Given the description of an element on the screen output the (x, y) to click on. 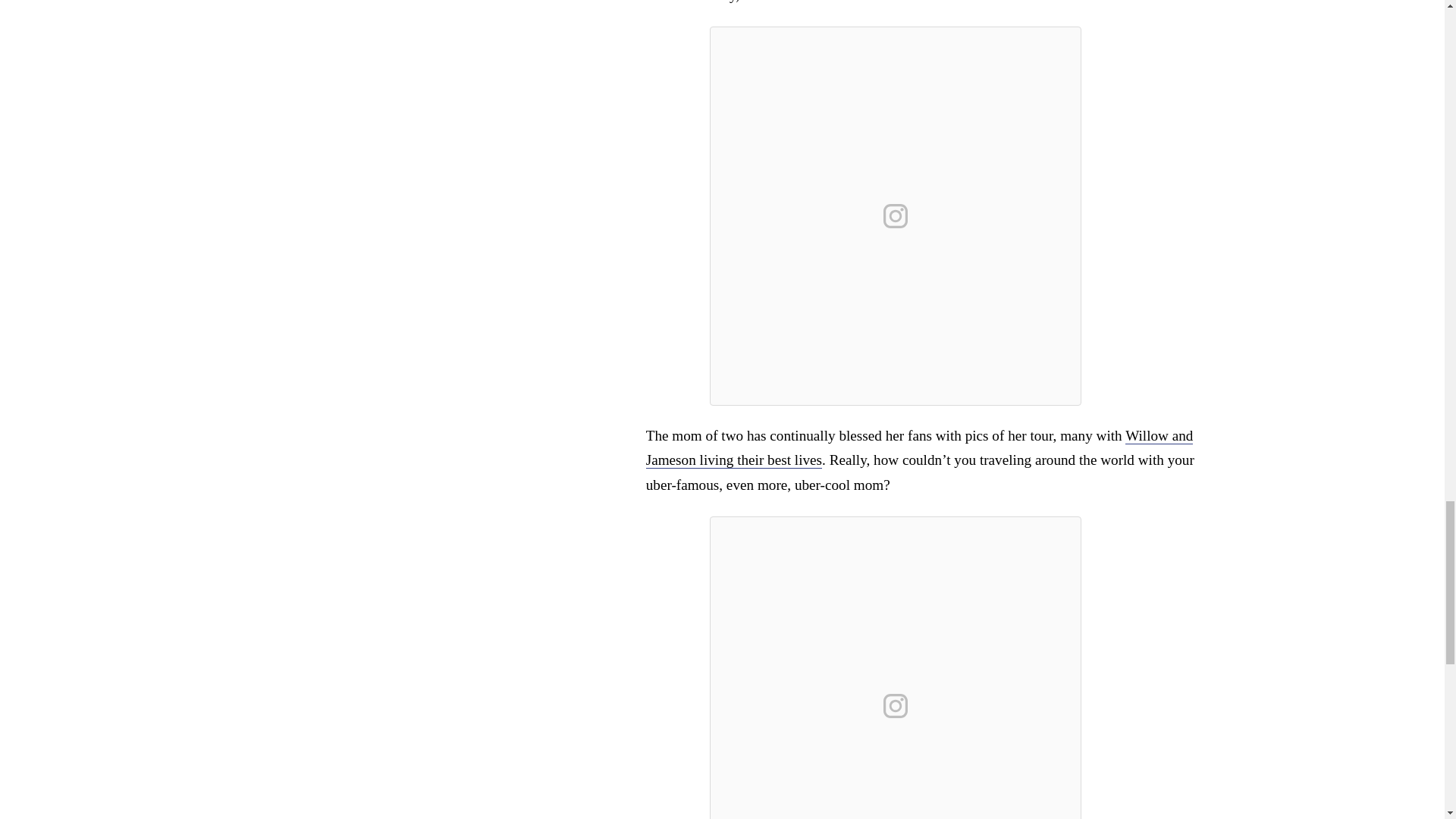
View on Instagram (895, 216)
Willow and Jameson living their best lives (919, 448)
View on Instagram (895, 705)
